Given the description of an element on the screen output the (x, y) to click on. 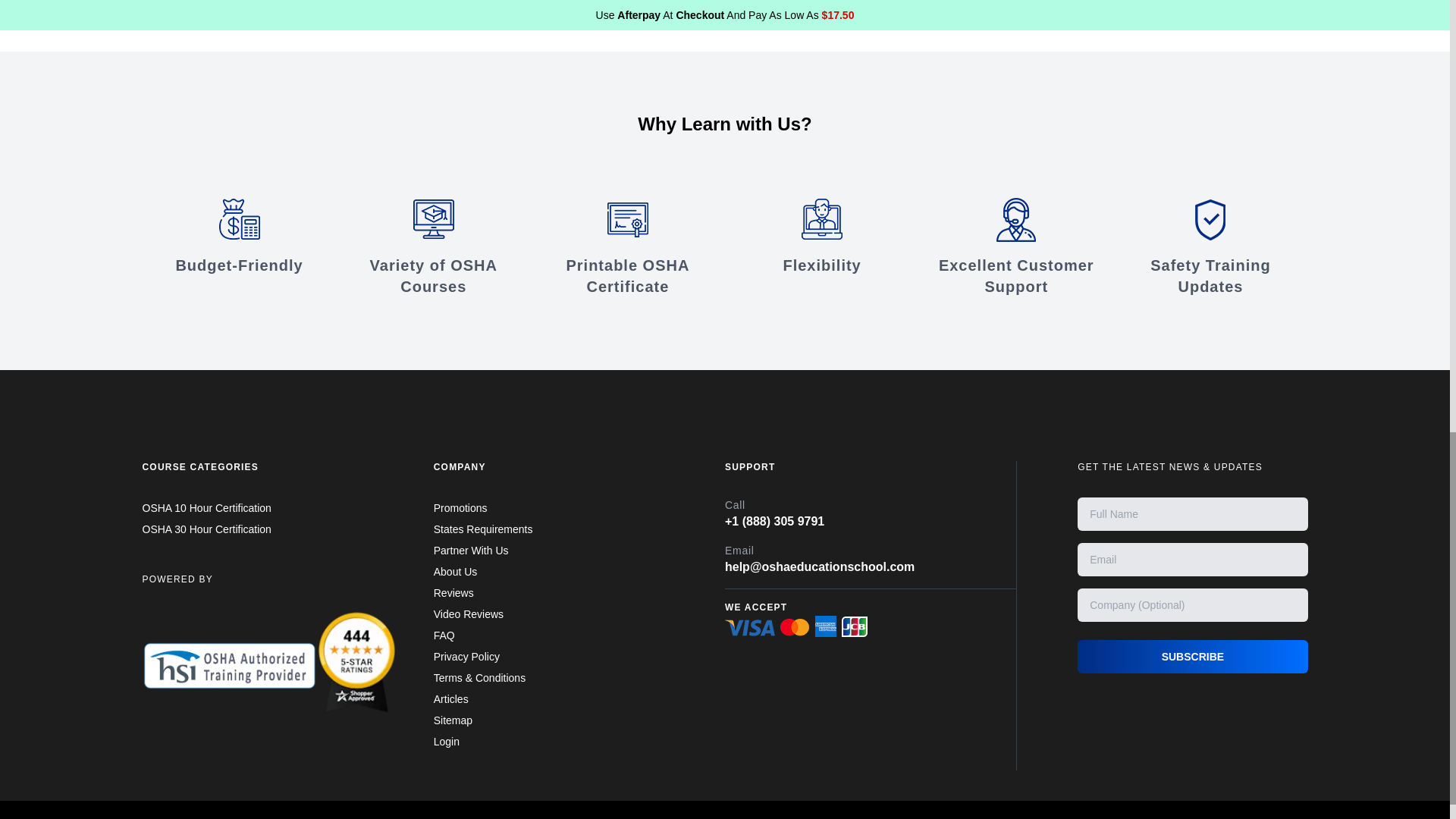
Variety of OSHA Courses (433, 247)
Budget-Friendly (239, 236)
Flexibility (821, 236)
Safety Training Updates (1209, 247)
Printable OSHA Certificate (627, 247)
Excellent Customer Support (1015, 247)
